Given the description of an element on the screen output the (x, y) to click on. 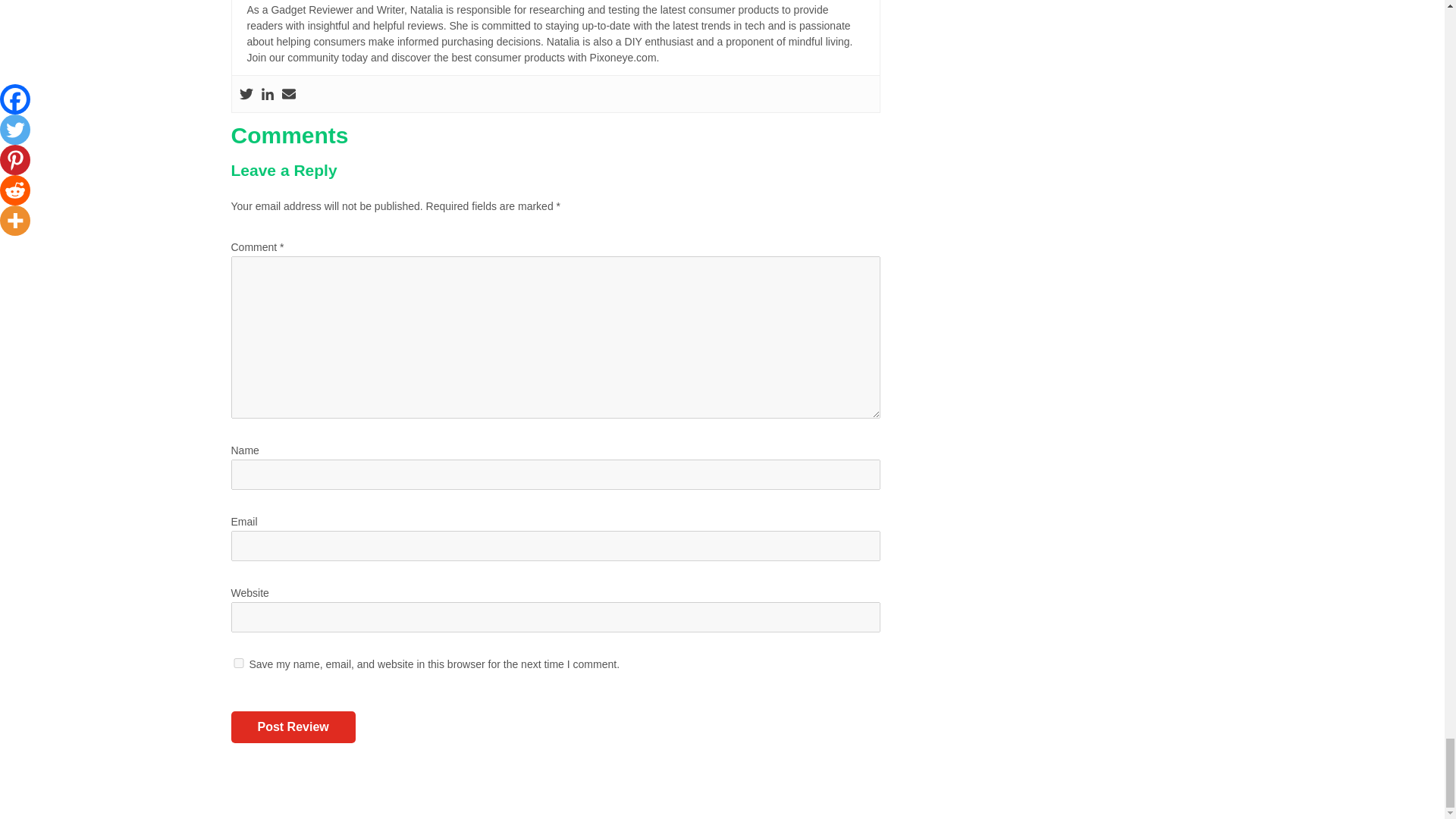
Post Review (292, 726)
yes (238, 663)
